Given the description of an element on the screen output the (x, y) to click on. 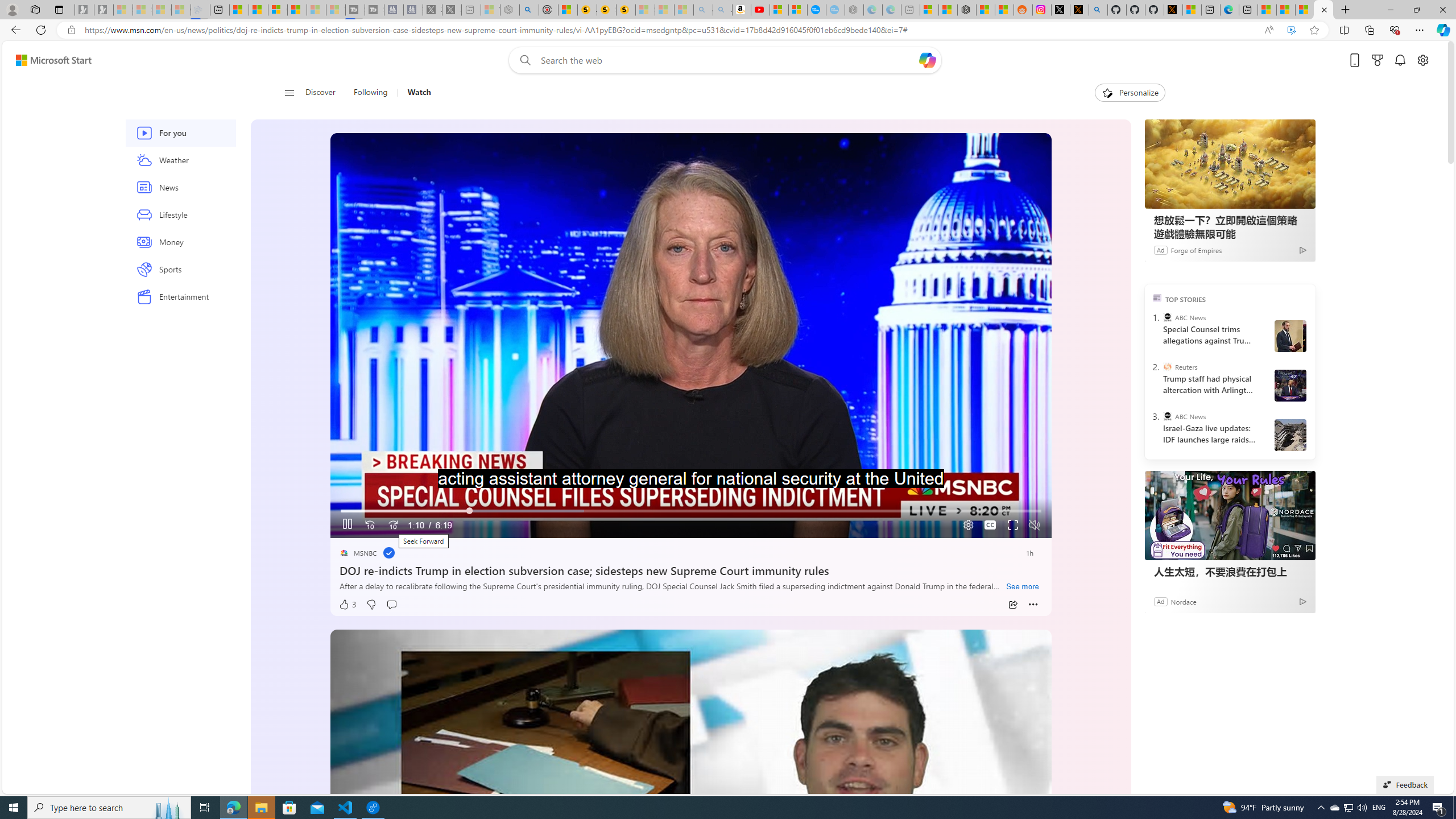
Watch (413, 92)
Day 1: Arriving in Yemen (surreal to be here) - YouTube (759, 9)
Open navigation menu (289, 92)
Share (1012, 604)
Ad (1160, 601)
Nordace - Duffels (966, 9)
github - Search (1098, 9)
